Given the description of an element on the screen output the (x, y) to click on. 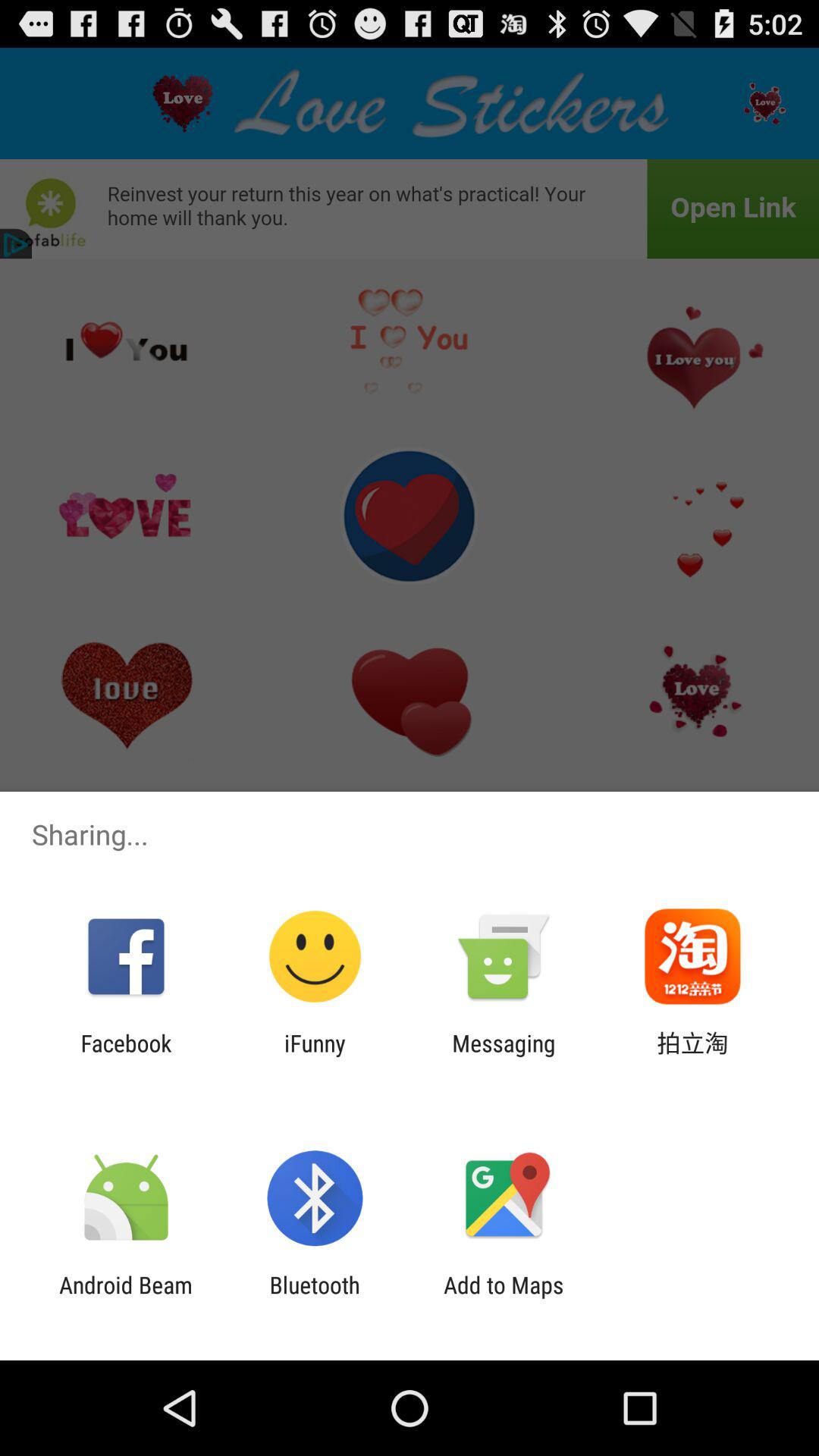
press the android beam (125, 1298)
